Given the description of an element on the screen output the (x, y) to click on. 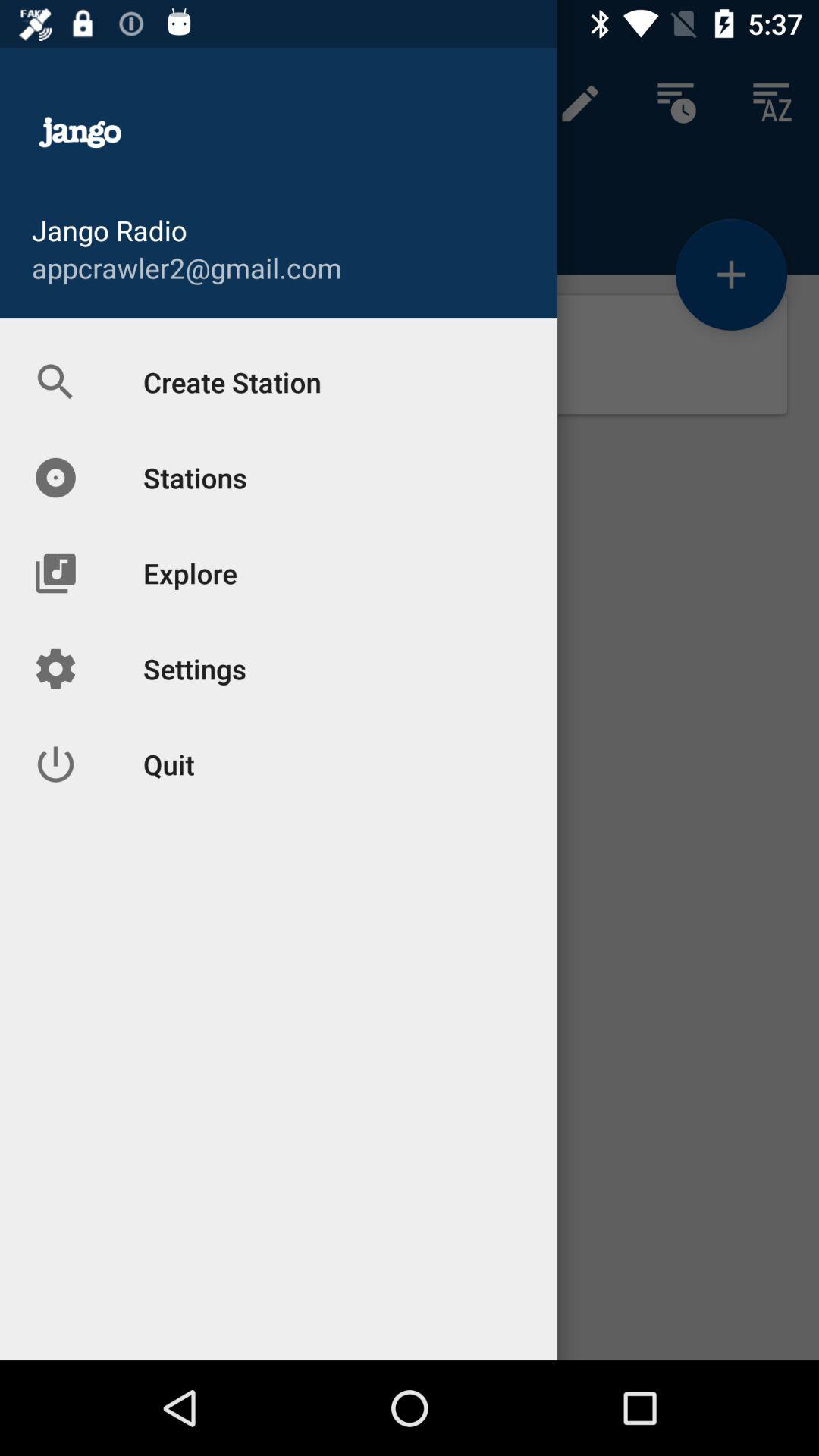
magnifier icon (87, 354)
